Given the description of an element on the screen output the (x, y) to click on. 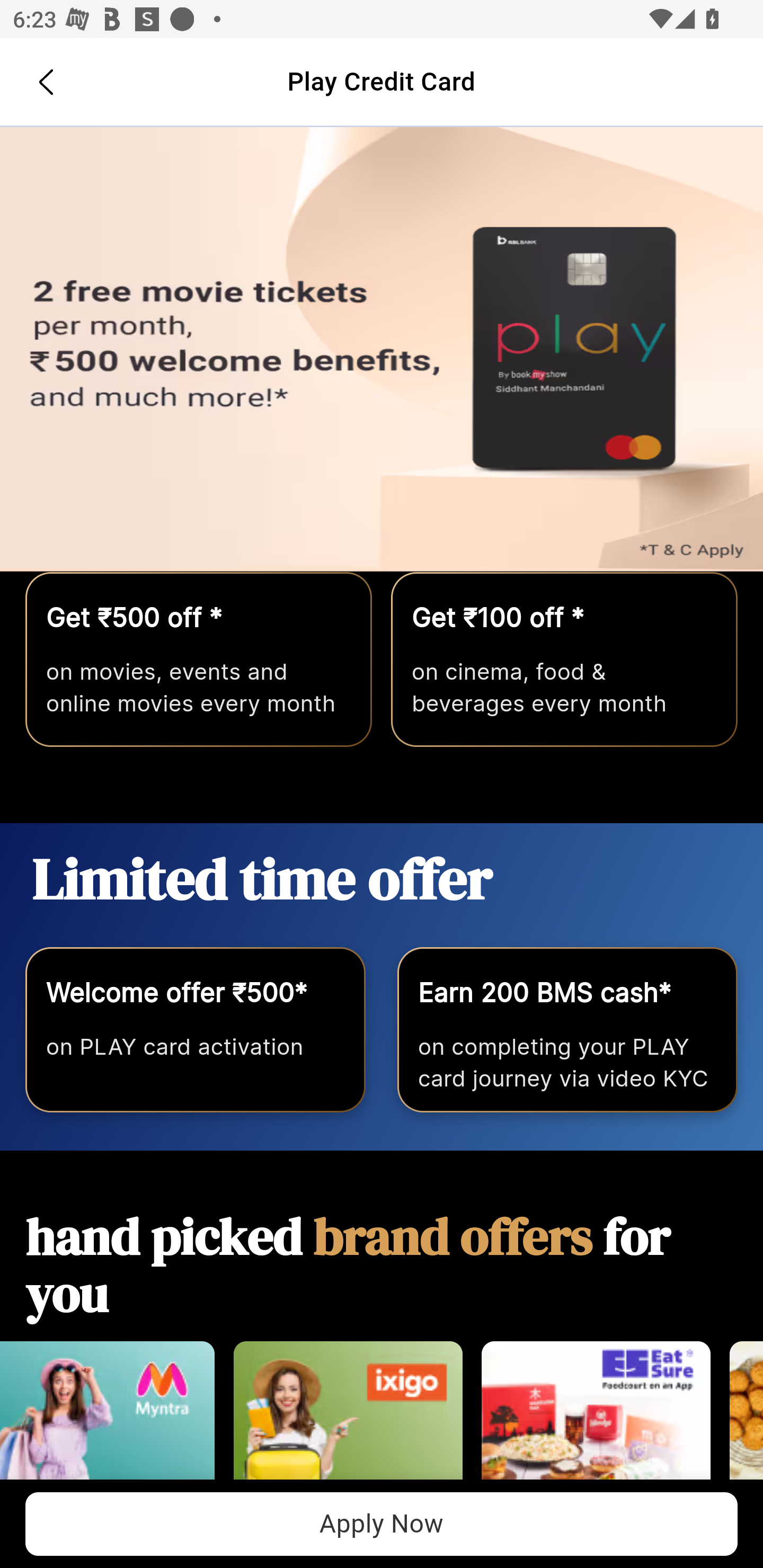
Apply Now (381, 349)
Apply Now (381, 1523)
